Given the description of an element on the screen output the (x, y) to click on. 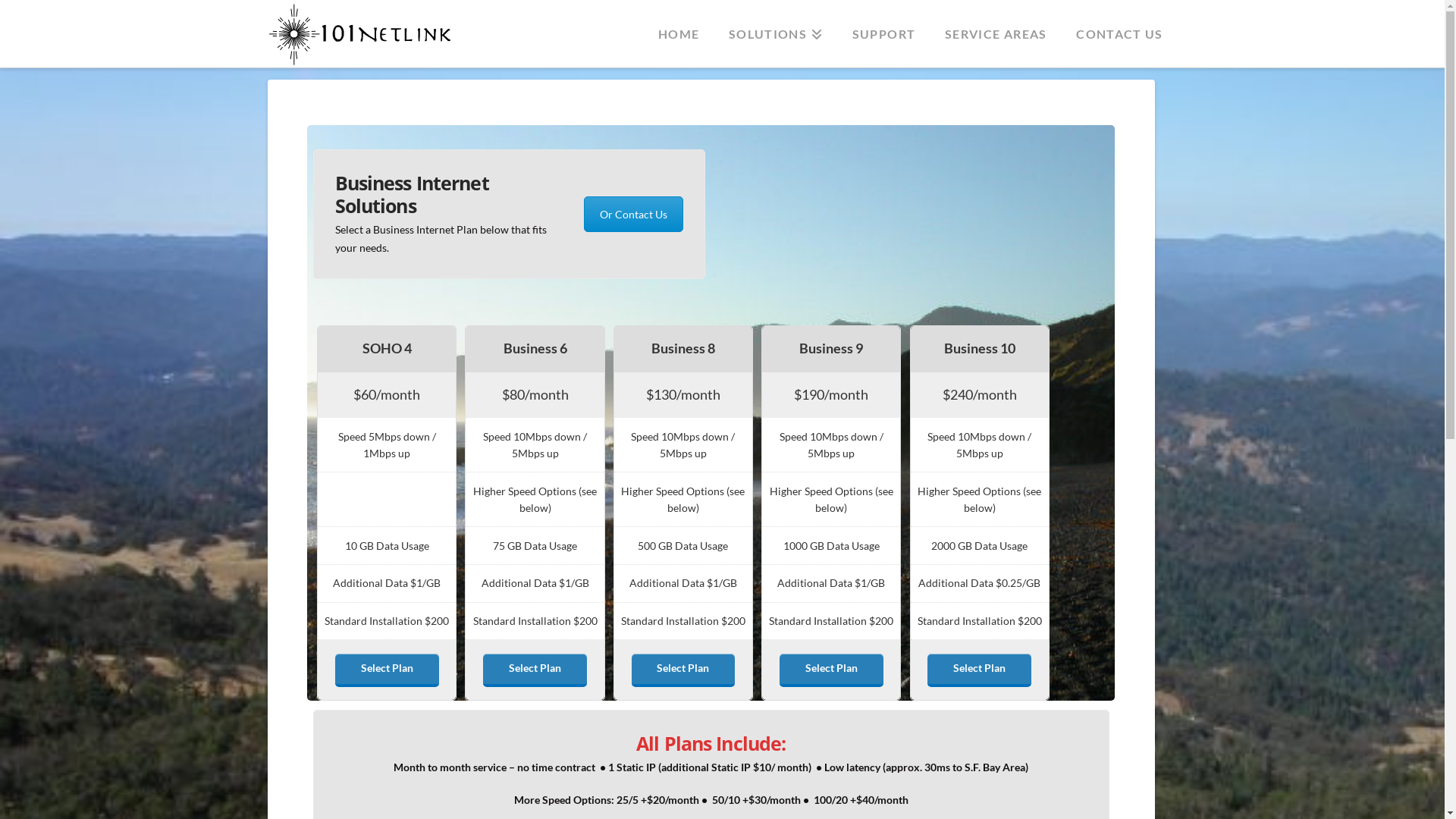
Select Plan Element type: text (979, 670)
Select Plan Element type: text (534, 670)
SOLUTIONS Element type: text (775, 24)
SUPPORT Element type: text (883, 24)
Select Plan Element type: text (683, 670)
SERVICE AREAS Element type: text (994, 24)
HOME Element type: text (678, 24)
CONTACT US Element type: text (1118, 24)
Select Plan Element type: text (831, 670)
Select Plan Element type: text (387, 670)
Or Contact Us Element type: text (633, 214)
